Given the description of an element on the screen output the (x, y) to click on. 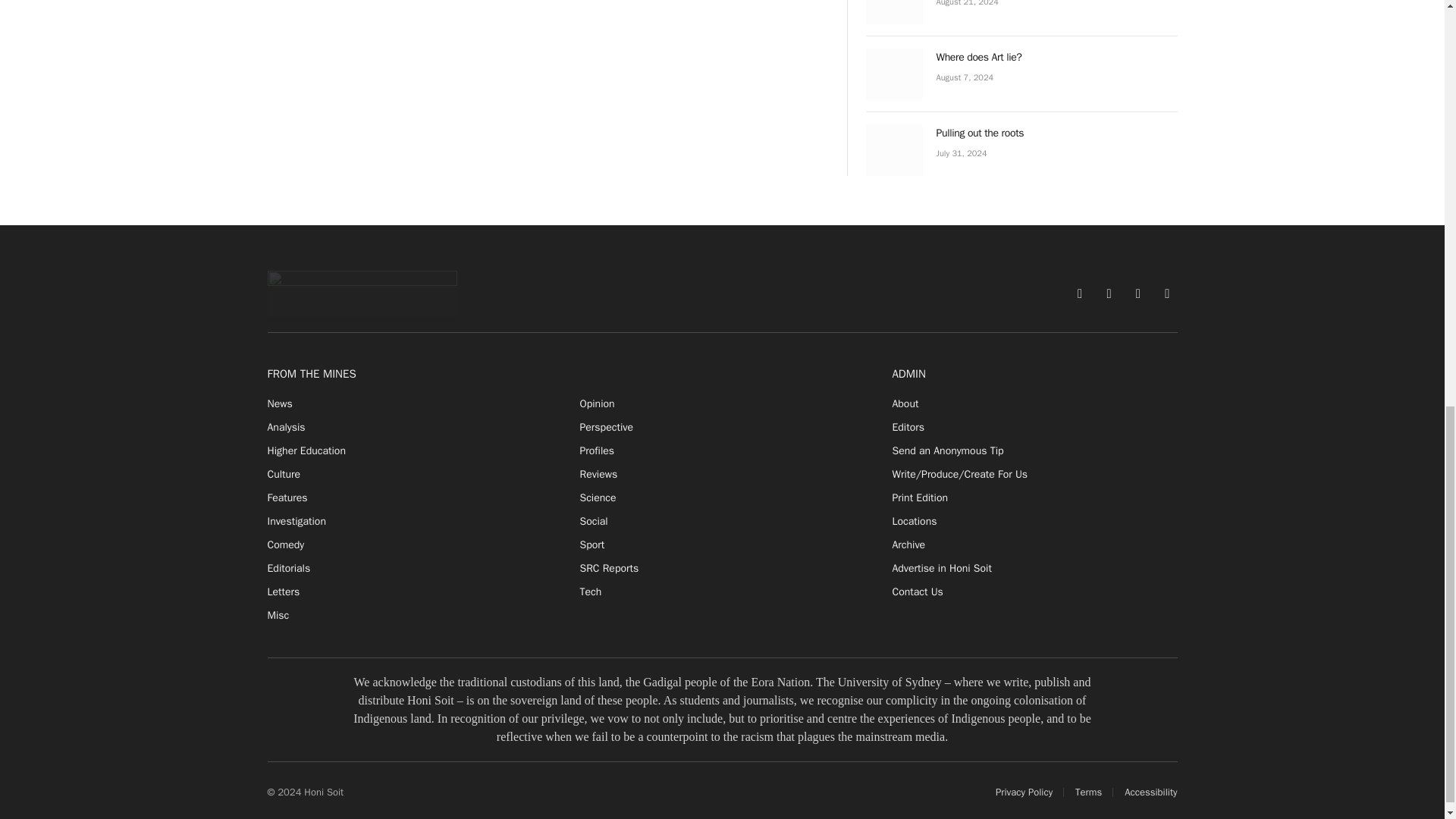
Where does Art lie? (894, 73)
Eastern Avenue is my runway: A history of SRC fashion (894, 12)
Pulling out the roots (894, 150)
